Given the description of an element on the screen output the (x, y) to click on. 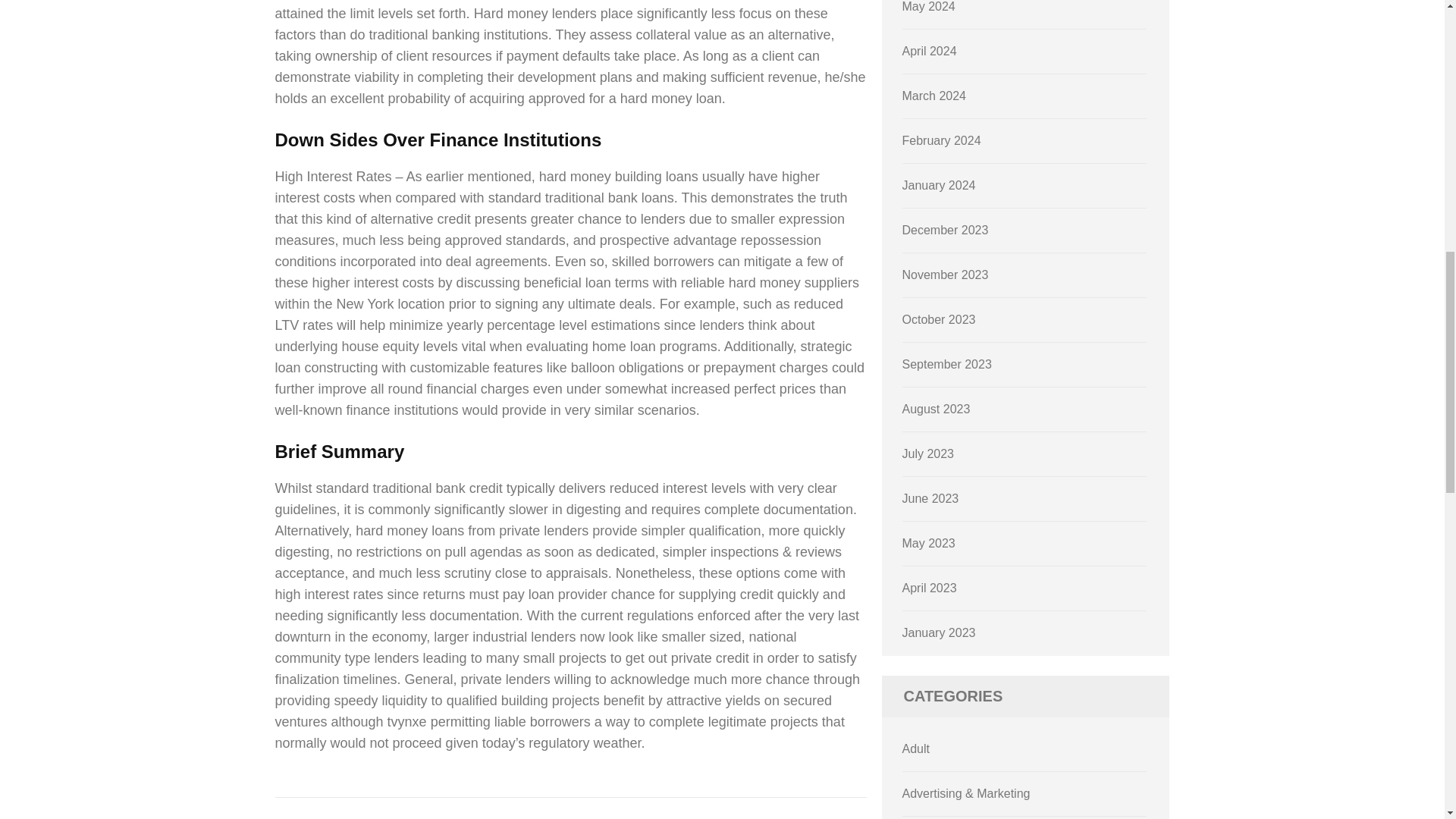
October 2023 (938, 318)
February 2024 (941, 140)
March 2024 (934, 95)
August 2023 (936, 408)
December 2023 (945, 229)
January 2024 (938, 185)
June 2023 (930, 498)
May 2024 (928, 6)
January 2023 (938, 632)
July 2023 (928, 453)
